Given the description of an element on the screen output the (x, y) to click on. 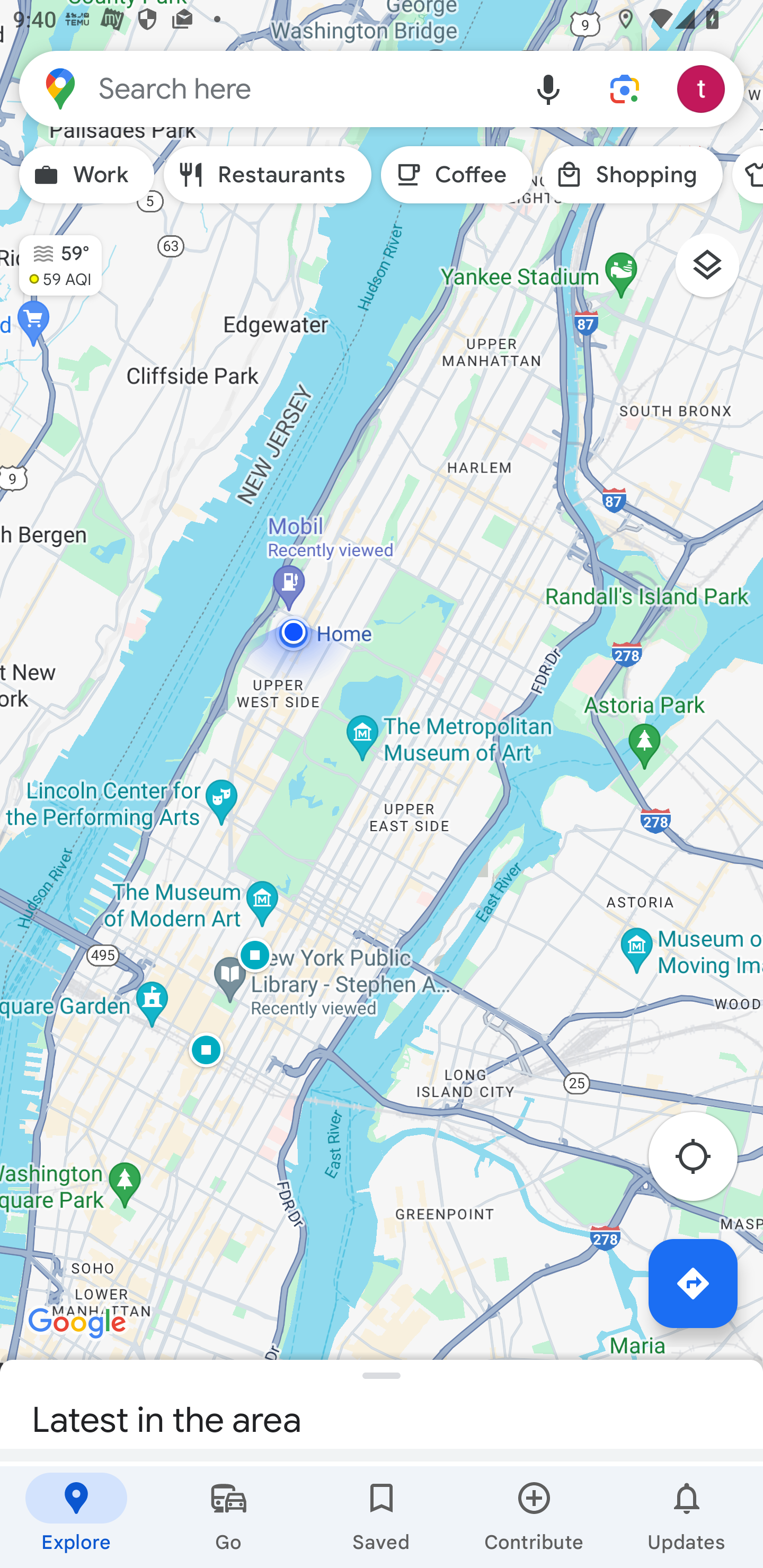
Search here (264, 88)
Voice search (548, 88)
Lens in Maps (624, 88)
Account and settings. (703, 88)
Work (86, 174)
Restaurants Search for Restaurants (267, 174)
Coffee Search for Coffee (456, 174)
Shopping Search for Shopping (631, 174)
Mist, 59°, Moderate, 59 AQI 59° 59 AQI (50, 257)
Layers (716, 271)
Re-center map to your location (702, 1161)
Directions (692, 1283)
Go (228, 1517)
Saved (381, 1517)
Contribute (533, 1517)
Updates (686, 1517)
